Given the description of an element on the screen output the (x, y) to click on. 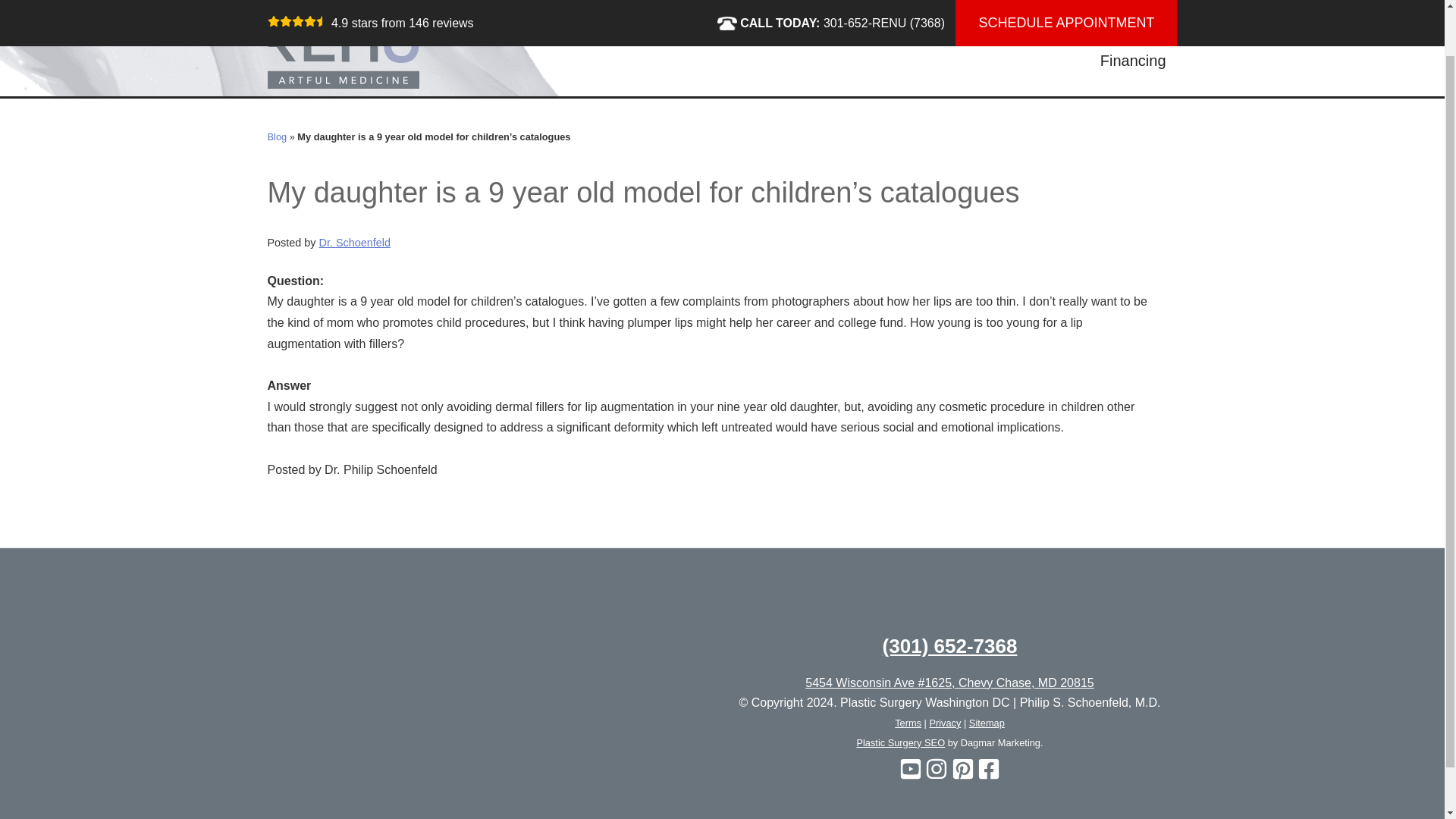
Non-Surgical (606, 30)
Surgical Procedures (508, 30)
Skin and Spa Treatments in Washington DC (762, 30)
Surgical (508, 30)
Non-Surgical Procedures (606, 30)
Skin and Spa Treatments (762, 30)
Plastic Surgery Washington DC (342, 45)
